Given the description of an element on the screen output the (x, y) to click on. 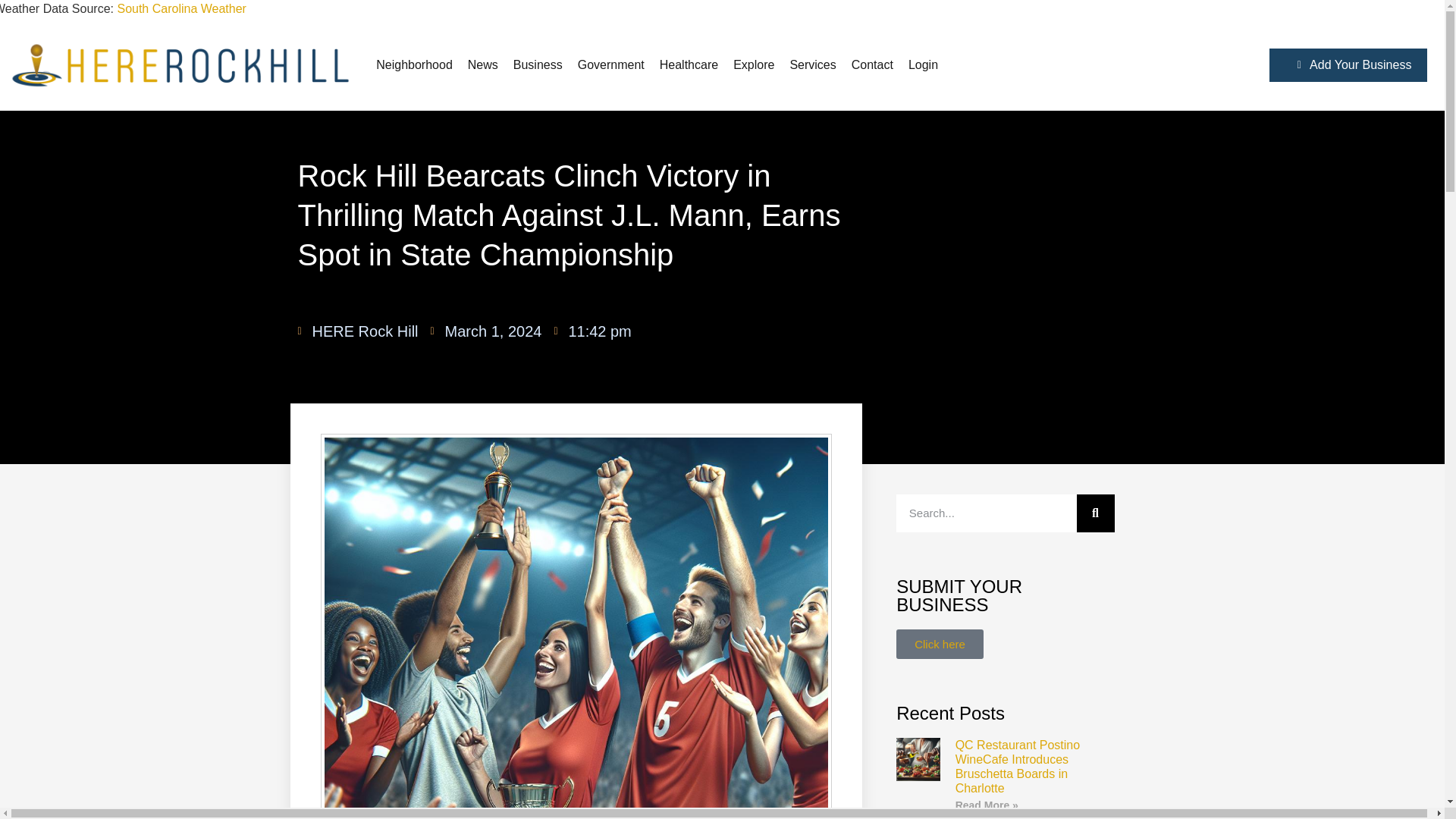
News (482, 64)
South Carolina Weather (181, 8)
Neighborhood (414, 64)
Explore (753, 64)
Services (812, 64)
Business (537, 64)
Healthcare (688, 64)
Government (611, 64)
